Given the description of an element on the screen output the (x, y) to click on. 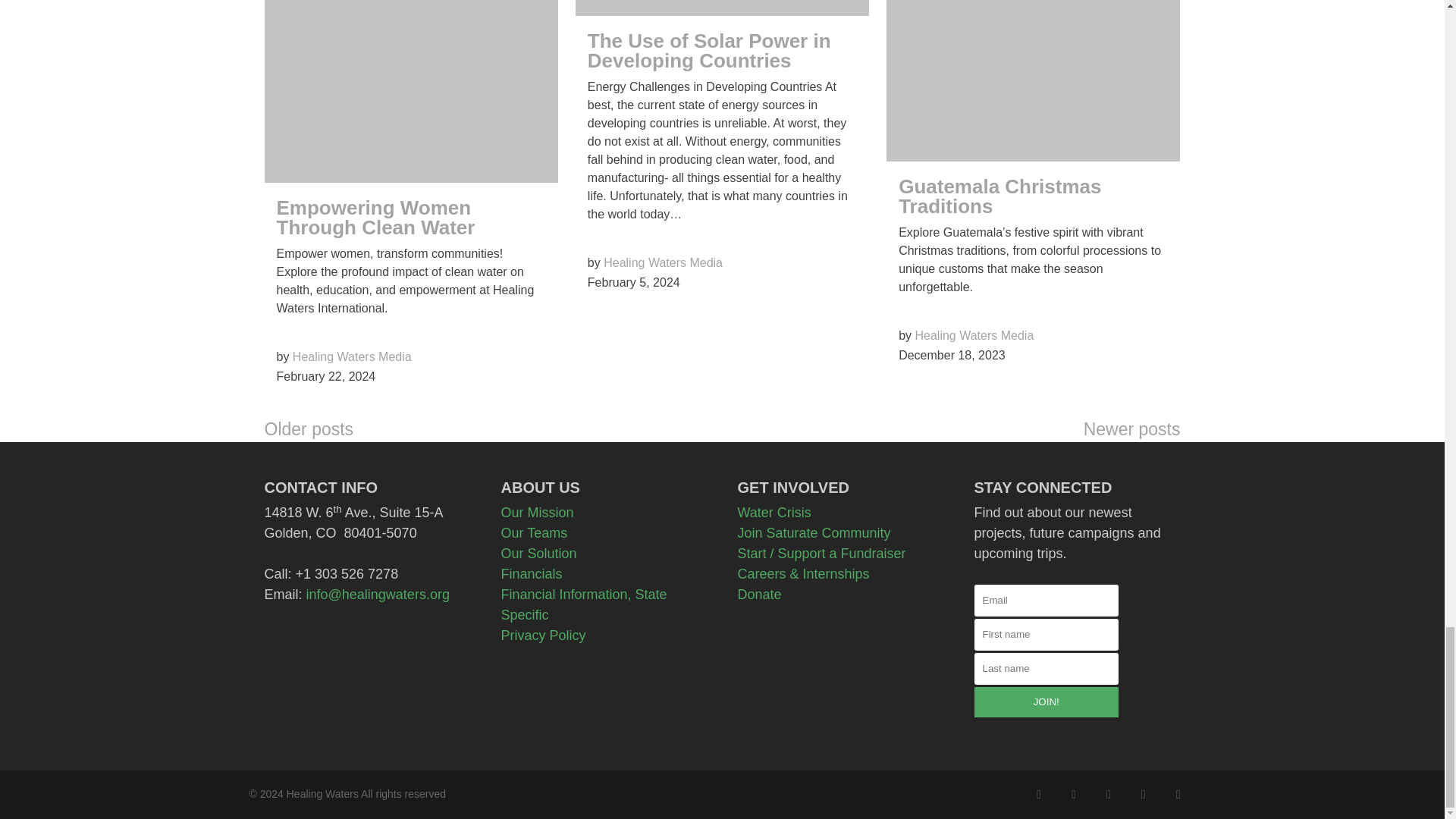
Empowering Women Through Clean Water (375, 217)
Healing Waters Media (352, 356)
JOIN! (1046, 701)
